Given the description of an element on the screen output the (x, y) to click on. 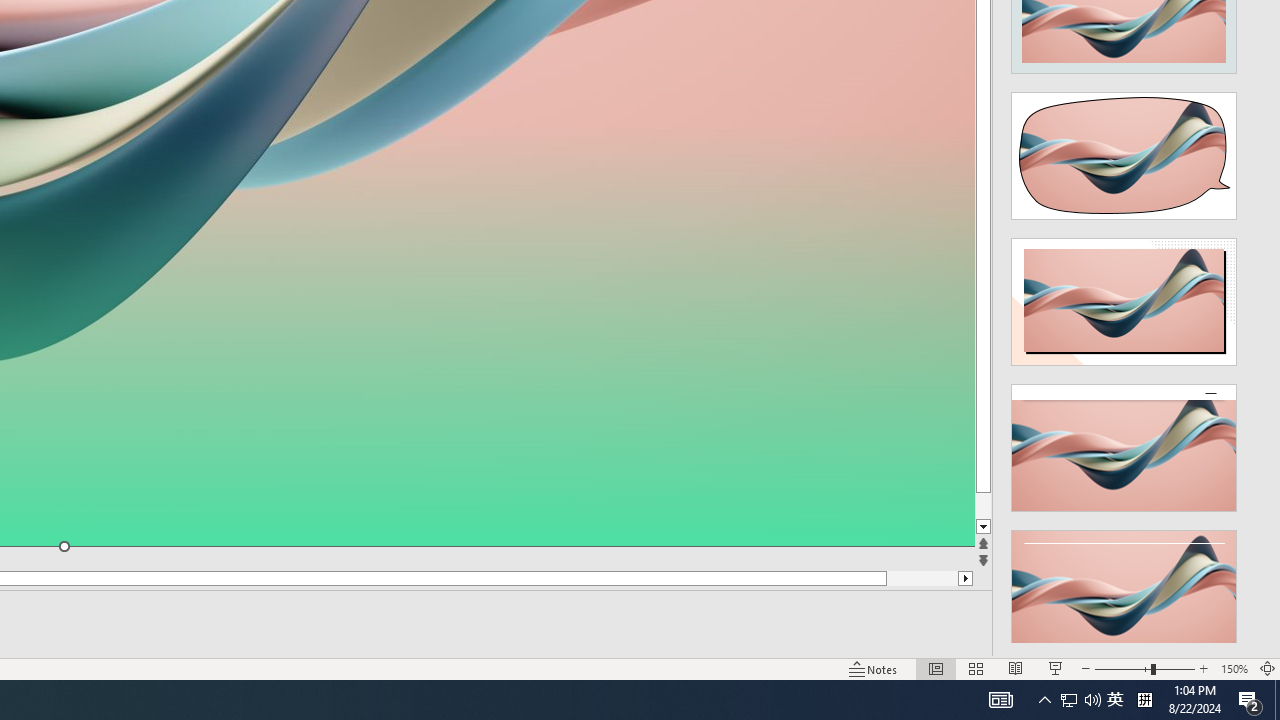
Zoom 150% (1234, 668)
